Given the description of an element on the screen output the (x, y) to click on. 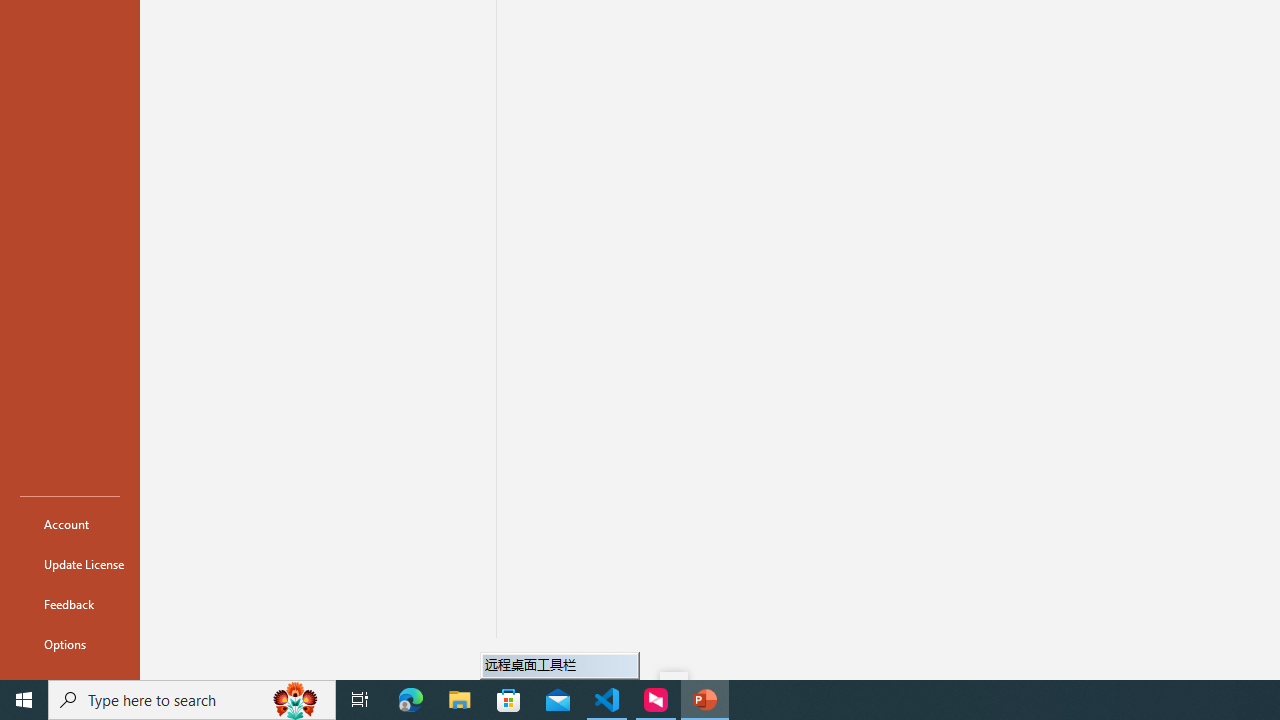
Account (69, 523)
Update License (69, 563)
Feedback (69, 603)
Options (69, 643)
